Given the description of an element on the screen output the (x, y) to click on. 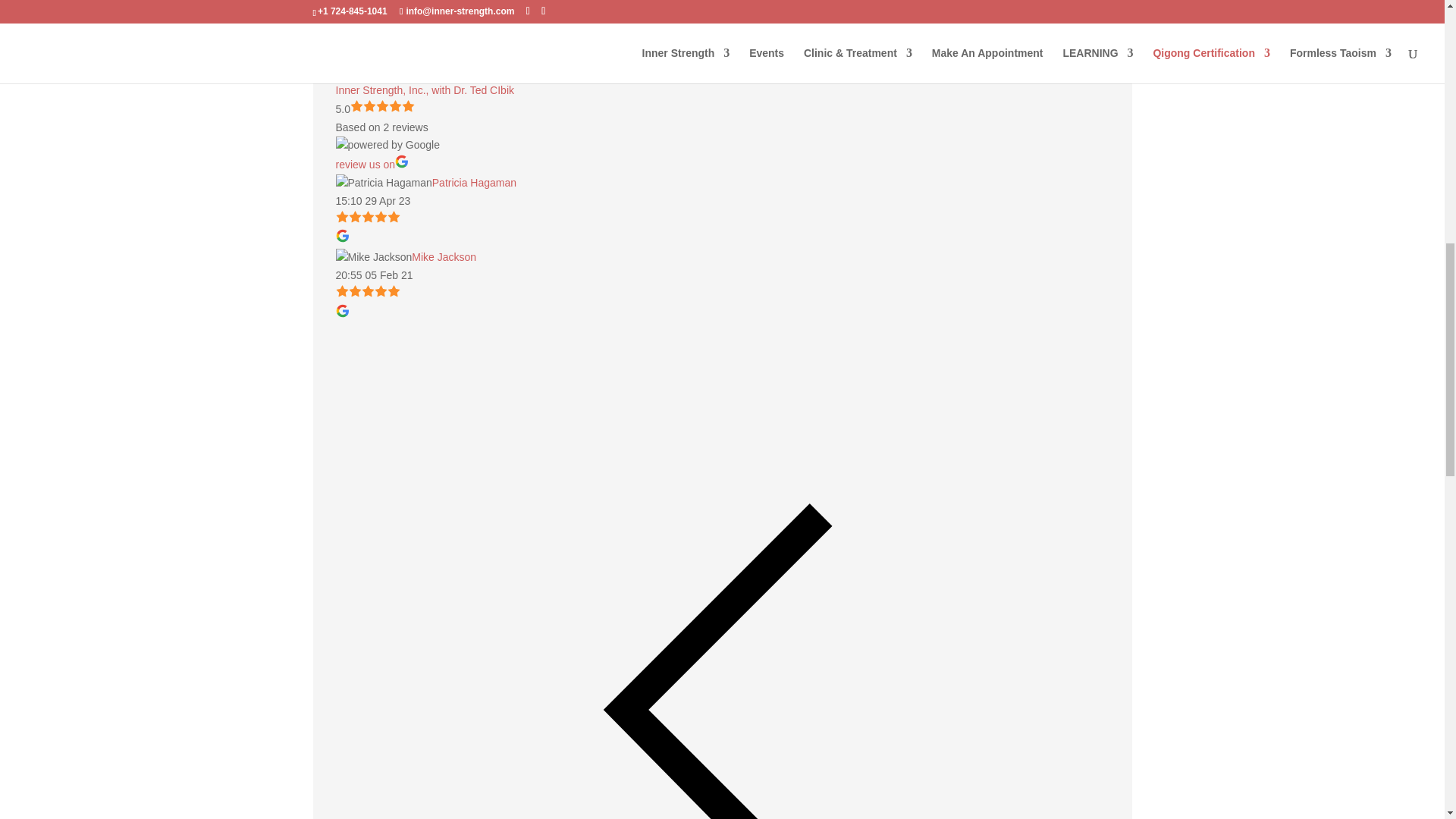
Inner Strength, Inc., with Dr. Ted CIbik (429, 72)
powered by Google (386, 145)
Patricia Hagaman (382, 183)
Mike Jackson (373, 257)
